Given the description of an element on the screen output the (x, y) to click on. 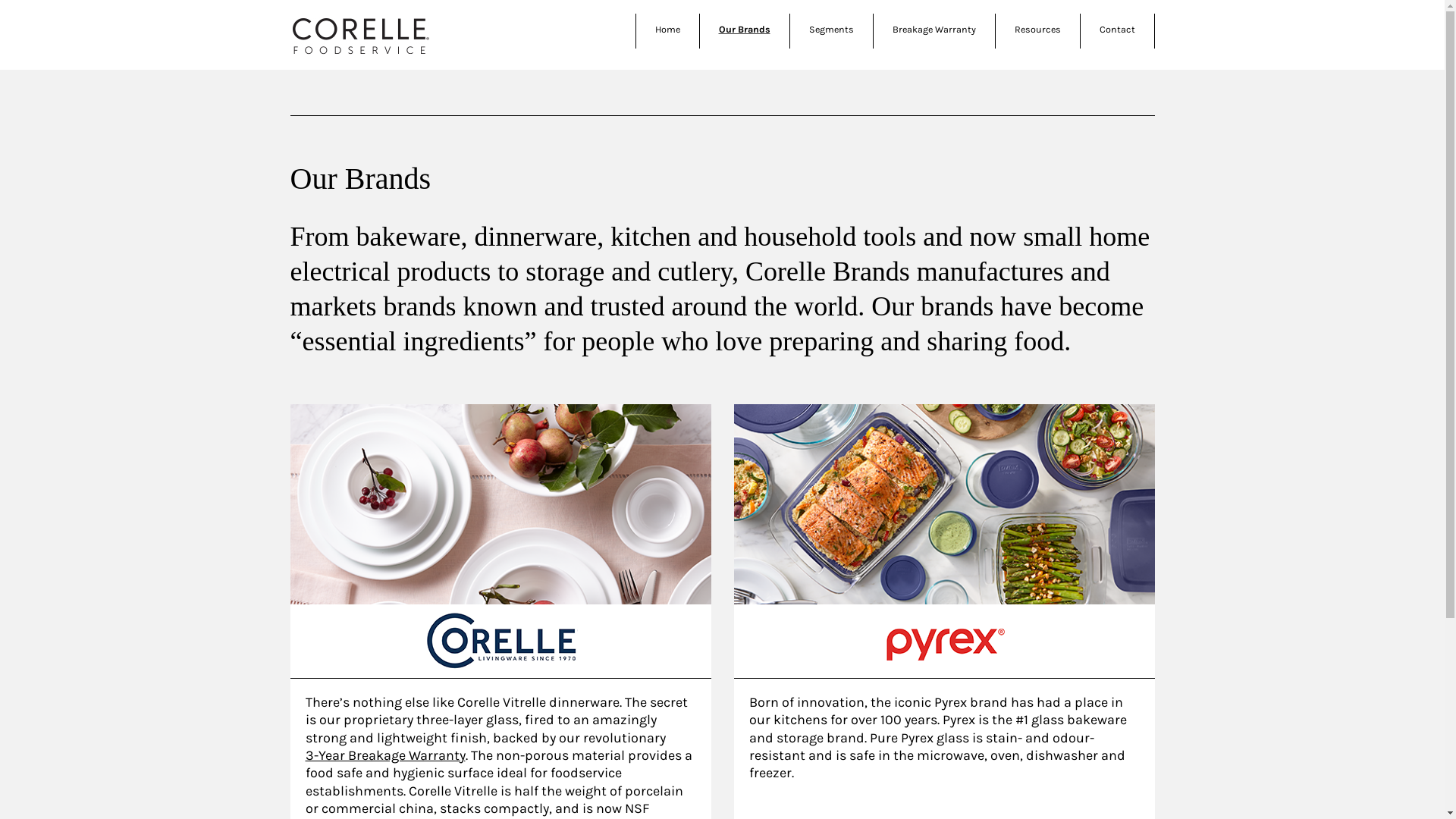
Segments Element type: text (830, 28)
Corelle Brands Element type: hover (359, 36)
Home Element type: text (667, 28)
Resources Element type: text (1037, 28)
Our Brands Element type: text (744, 28)
3-Year Breakage Warranty Element type: text (384, 755)
Breakage Warranty Element type: text (933, 28)
Contact Element type: text (1117, 28)
